Given the description of an element on the screen output the (x, y) to click on. 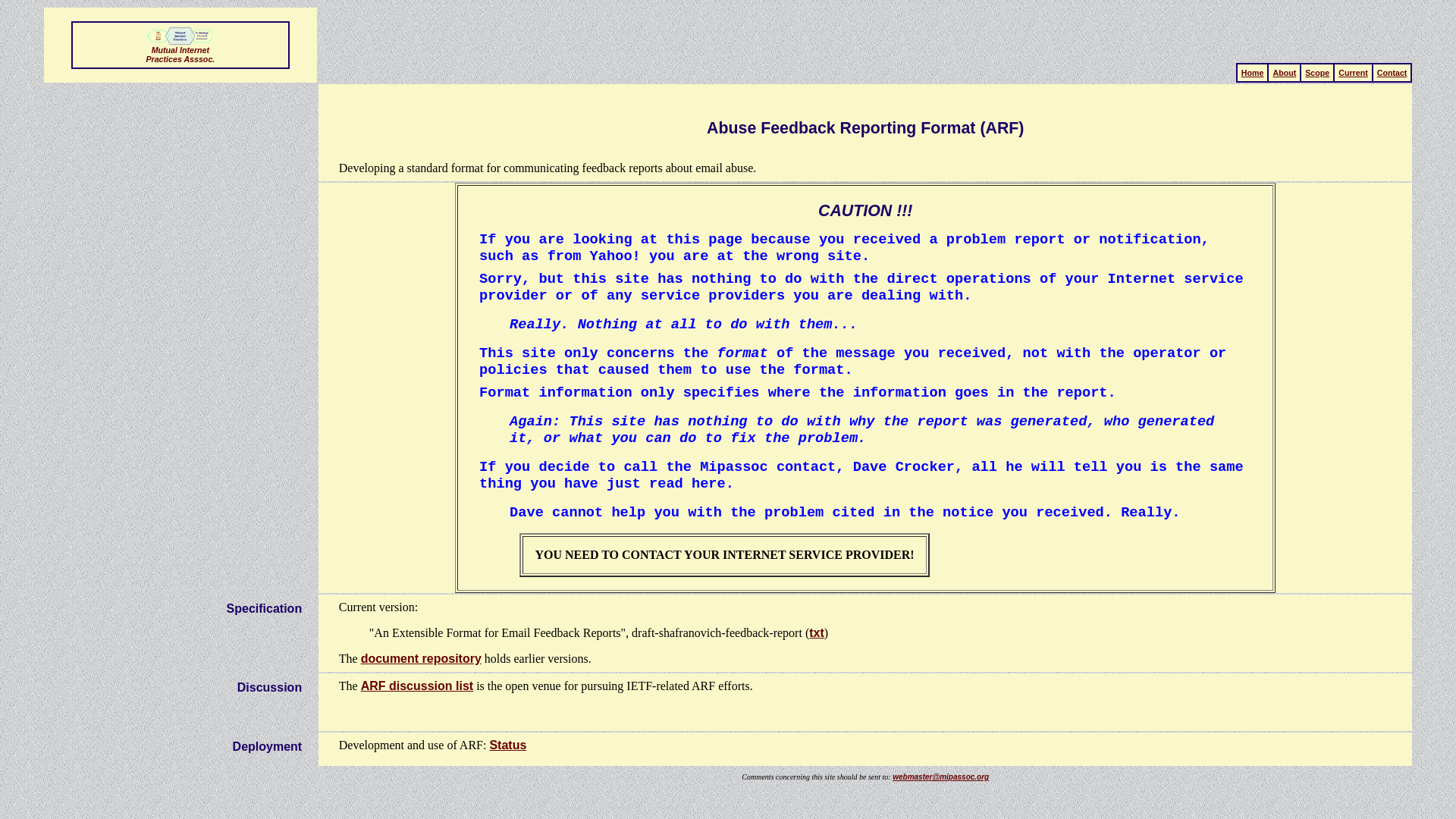
Current (1352, 71)
Scope (1316, 71)
txt (816, 632)
Contact (1392, 71)
Home (1252, 71)
document repository (421, 658)
ARF discussion list (417, 685)
About (1283, 71)
Status (507, 744)
